Given the description of an element on the screen output the (x, y) to click on. 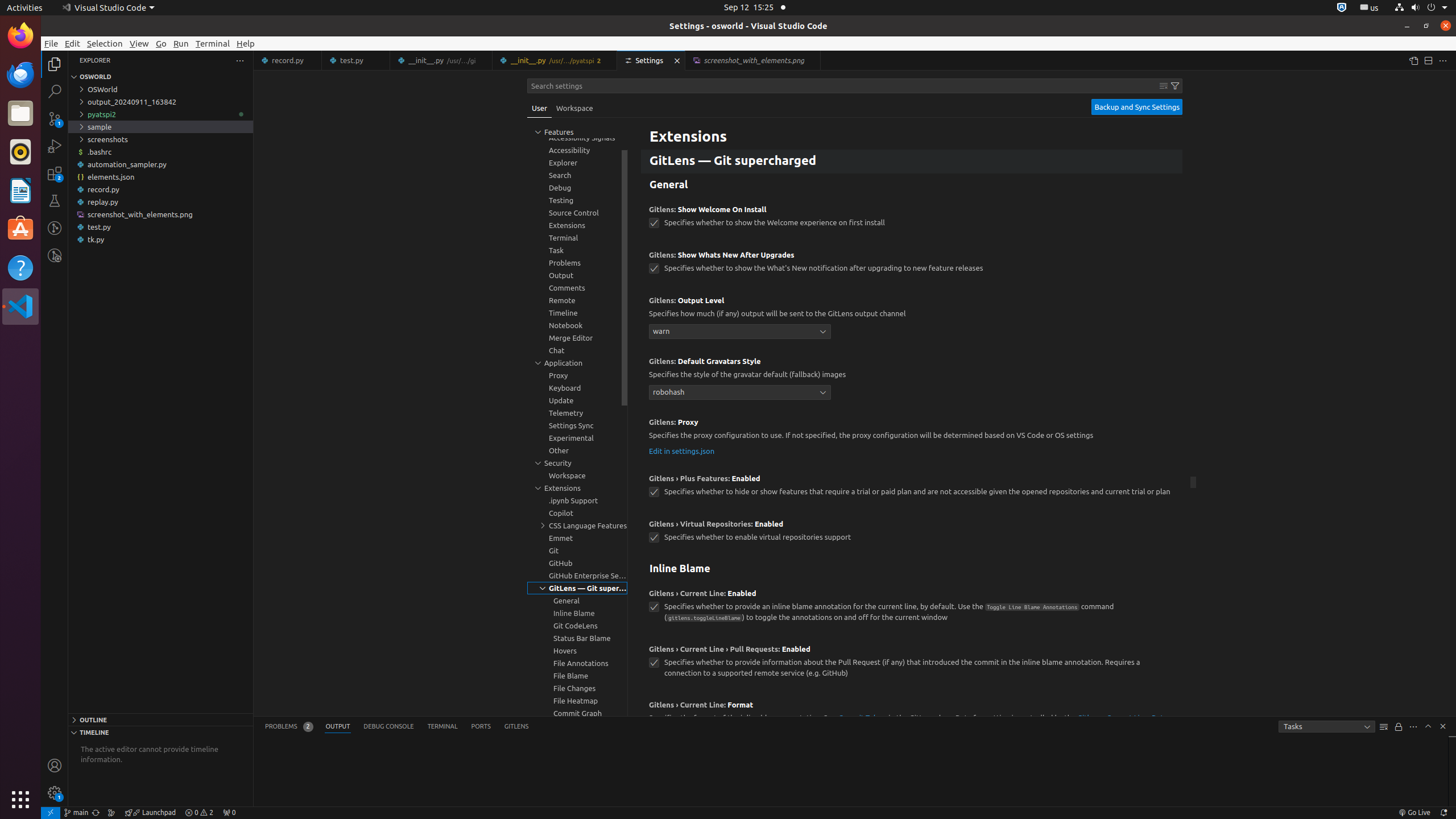
Terminal Element type: push-button (212, 43)
Features, group Element type: tree-item (577, 124)
Clear Output Element type: push-button (1383, 726)
Workspace Element type: check-box (574, 107)
GitHub, group Element type: tree-item (577, 562)
